Given the description of an element on the screen output the (x, y) to click on. 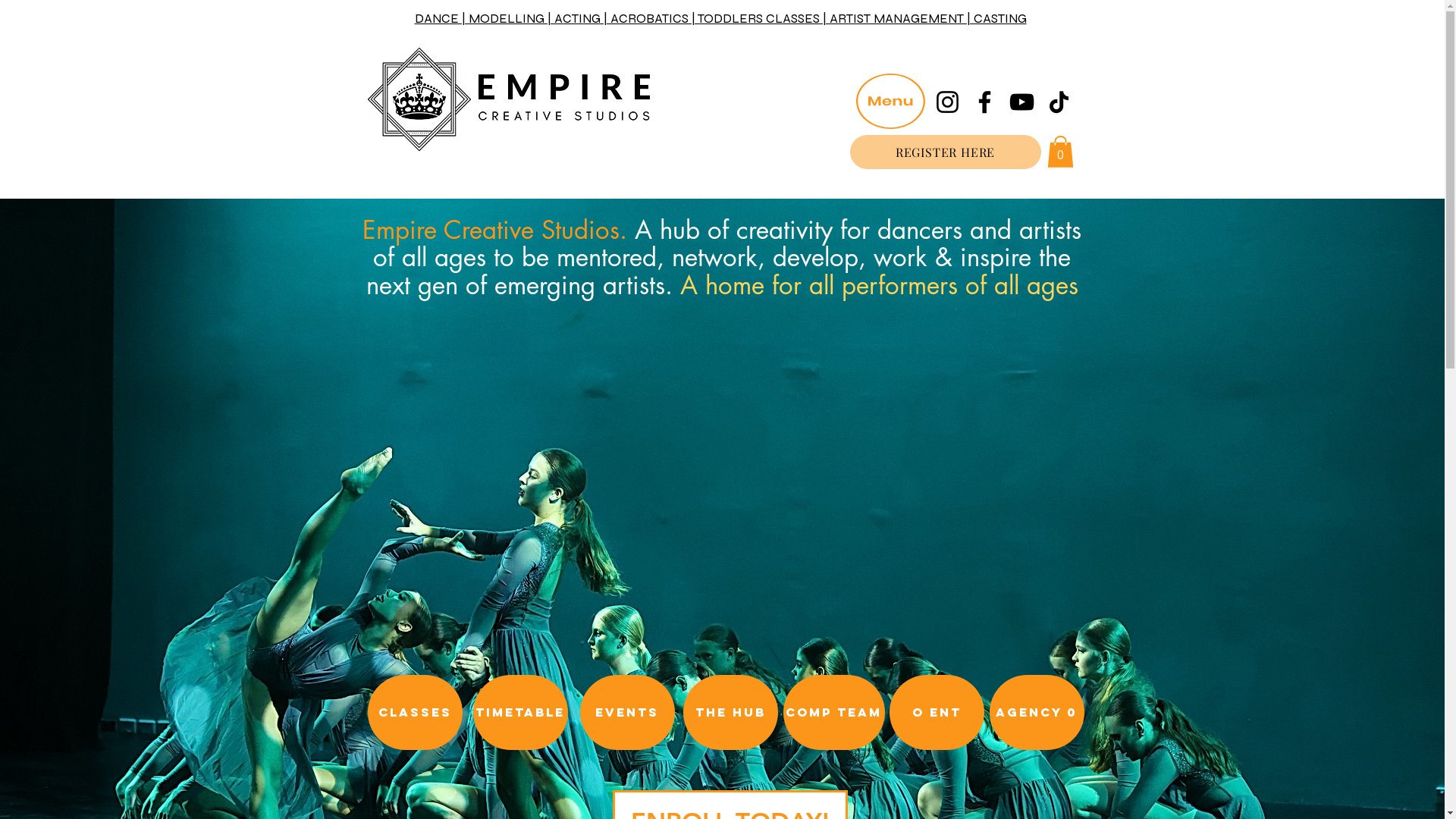
CLASSES Element type: text (414, 711)
O ENT Element type: text (935, 711)
THE HUB Element type: text (729, 711)
REGISTER HERE Element type: text (944, 151)
TIMETABLE Element type: text (520, 711)
EVENTS Element type: text (626, 711)
COMP TEAM Element type: text (833, 711)
AGENCY 0 Element type: text (1035, 711)
0 Element type: text (1059, 151)
